Given the description of an element on the screen output the (x, y) to click on. 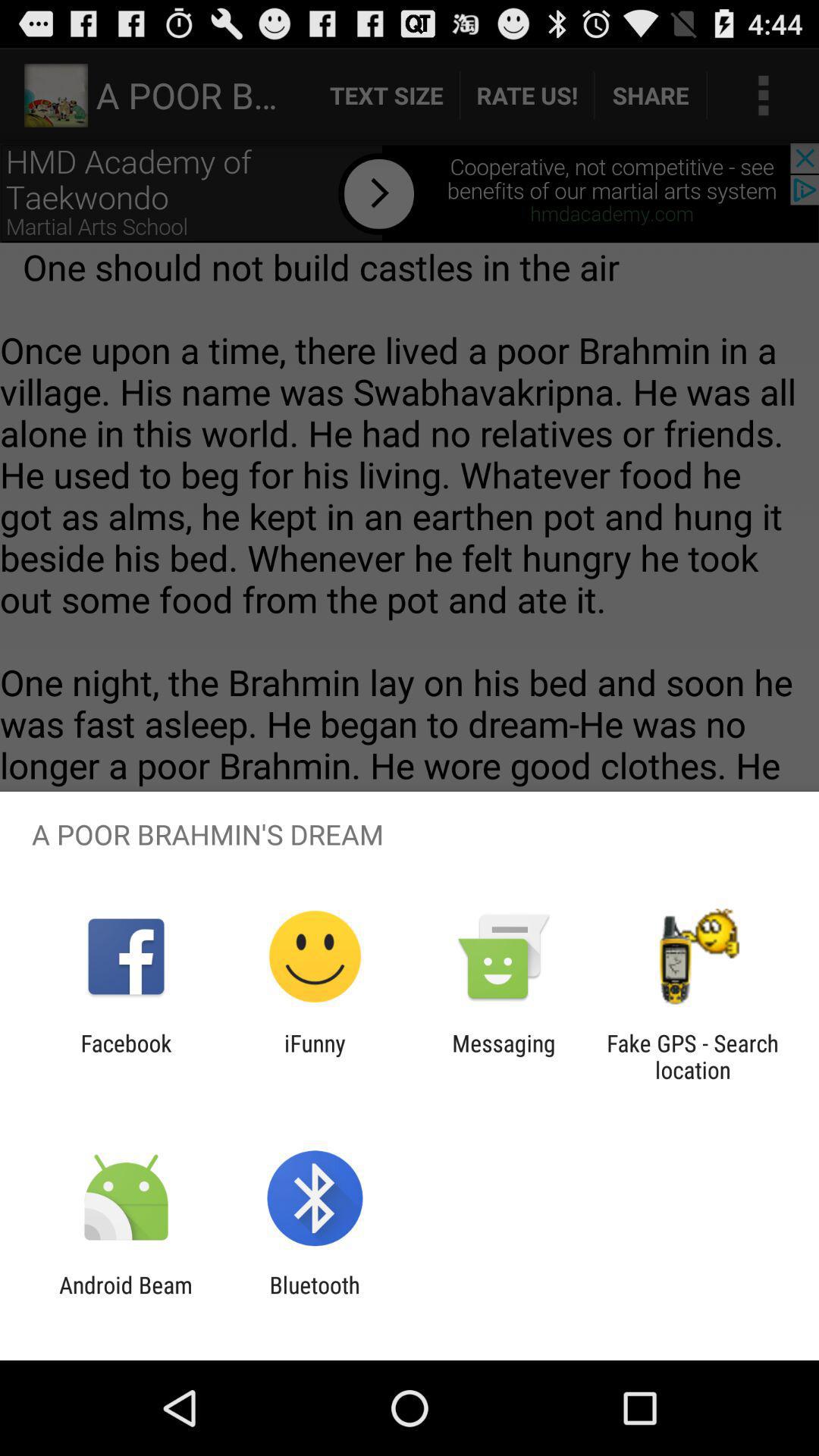
choose the icon next to fake gps search (503, 1056)
